Given the description of an element on the screen output the (x, y) to click on. 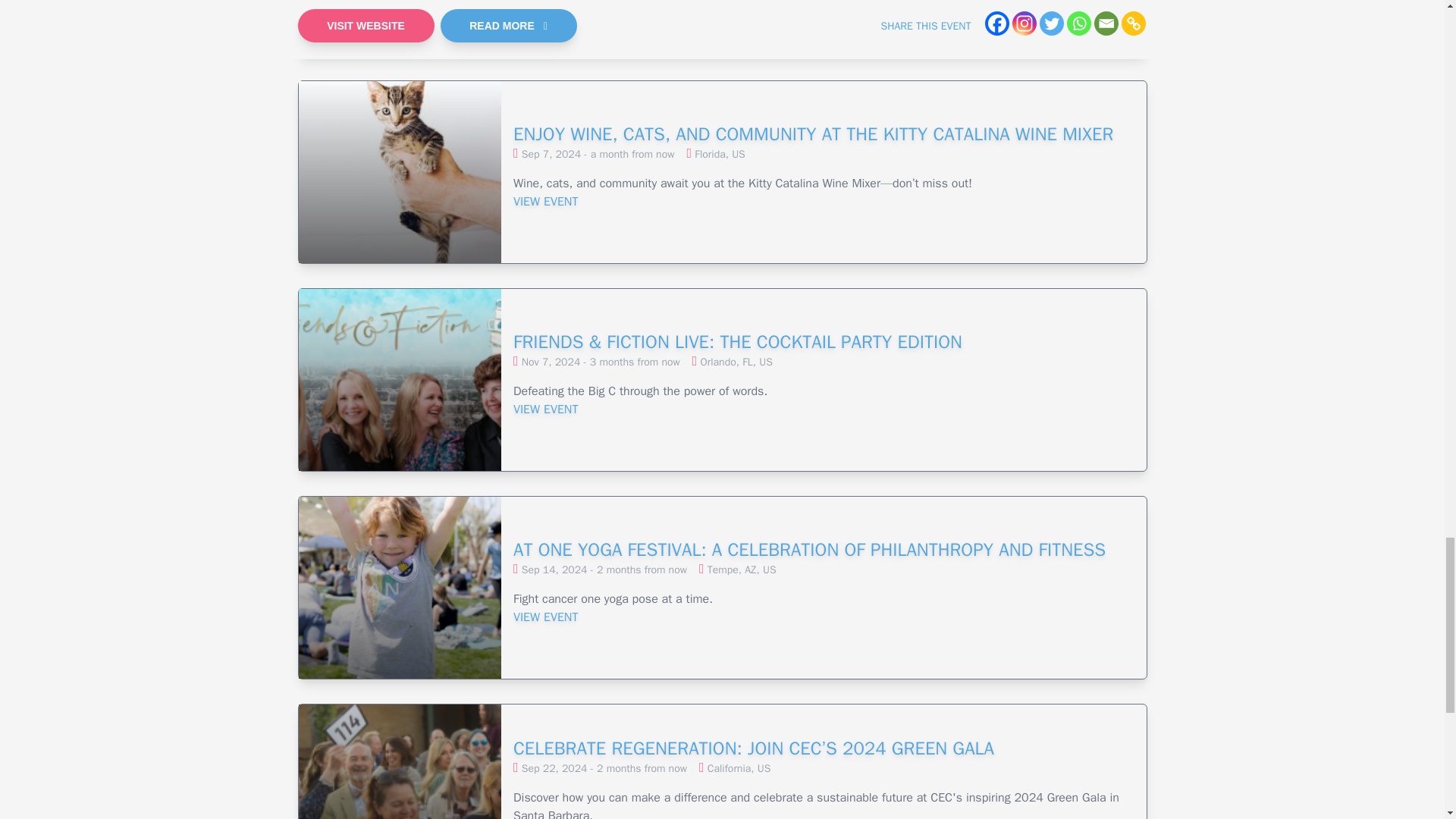
VIEW EVENT (823, 6)
